Given the description of an element on the screen output the (x, y) to click on. 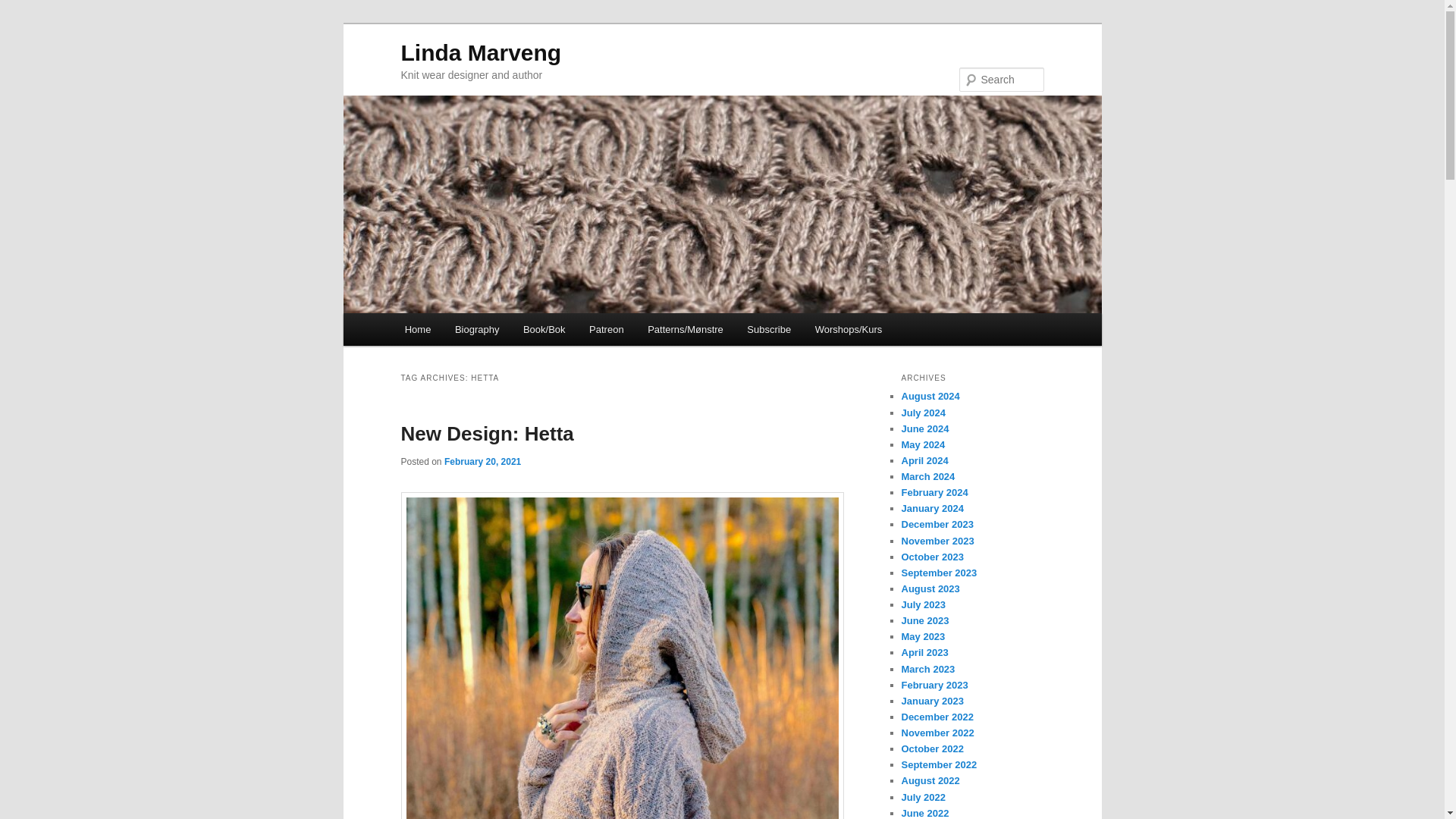
Search (24, 8)
June 2024 (925, 428)
August 2024 (930, 396)
July 2024 (922, 412)
Linda Marveng (480, 52)
February 20, 2021 (482, 461)
Subscribe (769, 328)
Biography (476, 328)
May 2024 (922, 444)
